Given the description of an element on the screen output the (x, y) to click on. 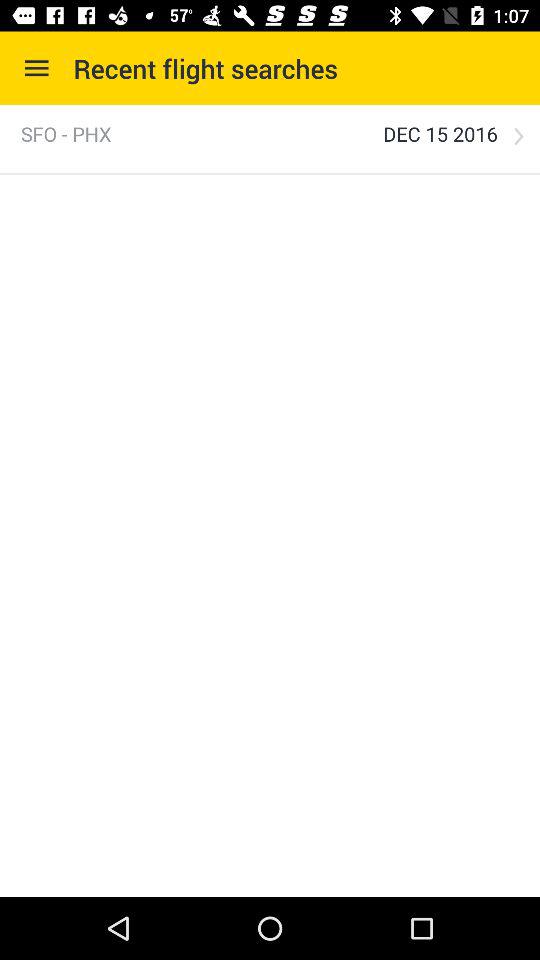
turn off item next to dec 15 2016 (66, 133)
